Given the description of an element on the screen output the (x, y) to click on. 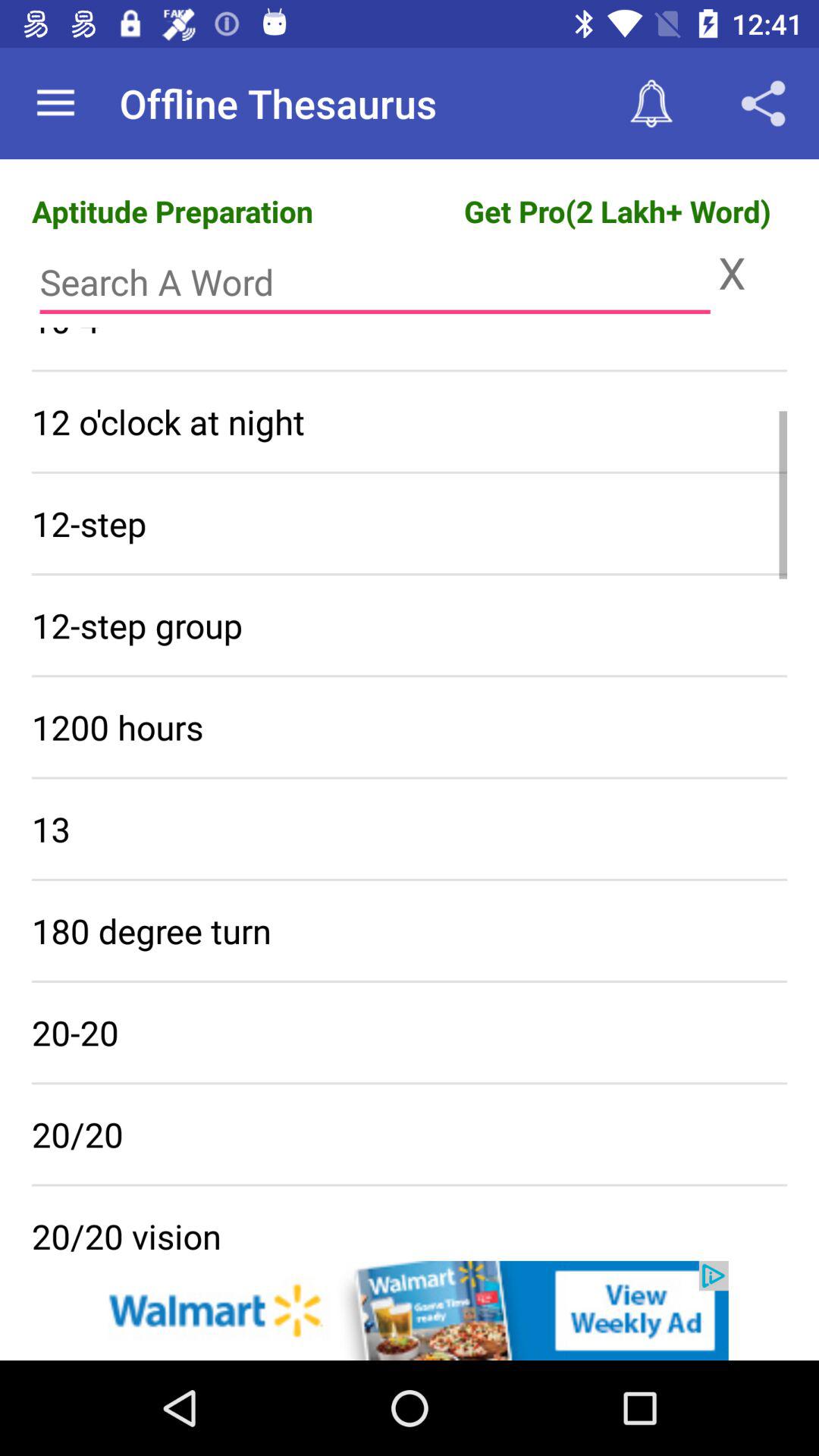
select the text aptitude preparation (171, 210)
select green colour text right to aptitude preparation (617, 210)
select the symbol beside search a word (752, 272)
